Given the description of an element on the screen output the (x, y) to click on. 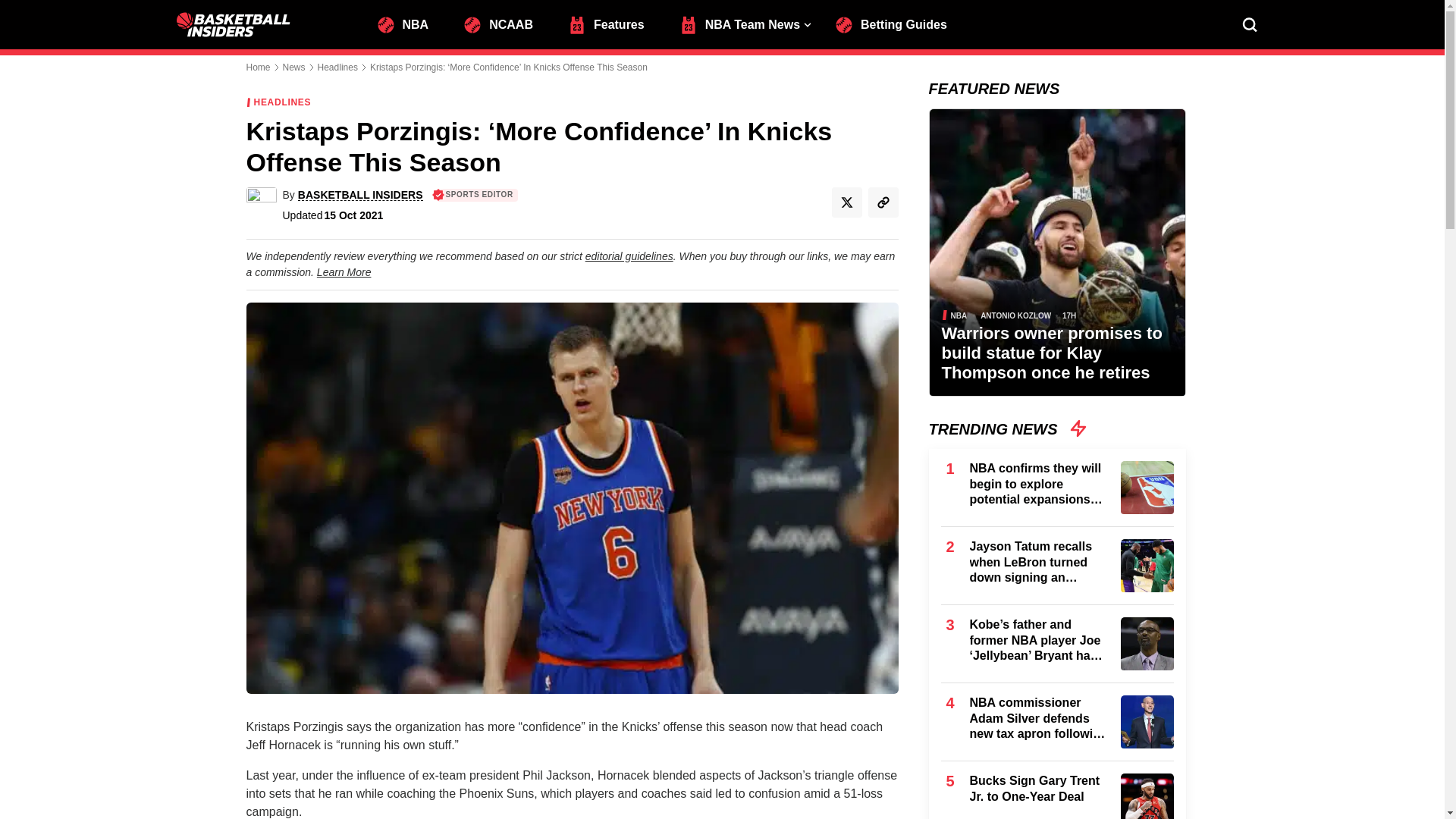
NCAAB (504, 22)
NBA (408, 22)
NBA Team News (746, 22)
Features (612, 22)
